Given the description of an element on the screen output the (x, y) to click on. 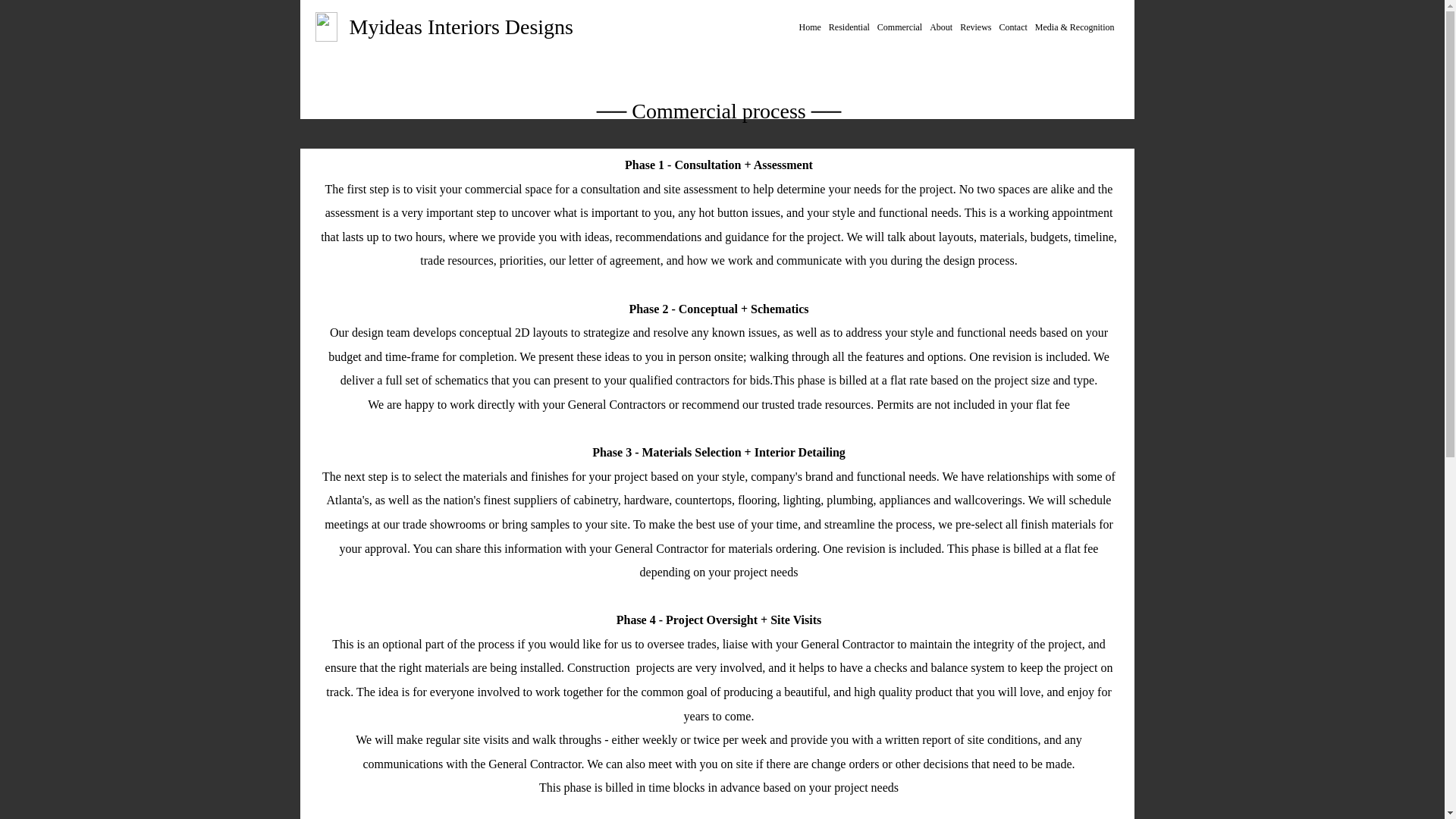
Home (809, 26)
Residential (849, 26)
About (941, 26)
Contact (1012, 26)
Commercial (899, 26)
Reviews (975, 26)
